Given the description of an element on the screen output the (x, y) to click on. 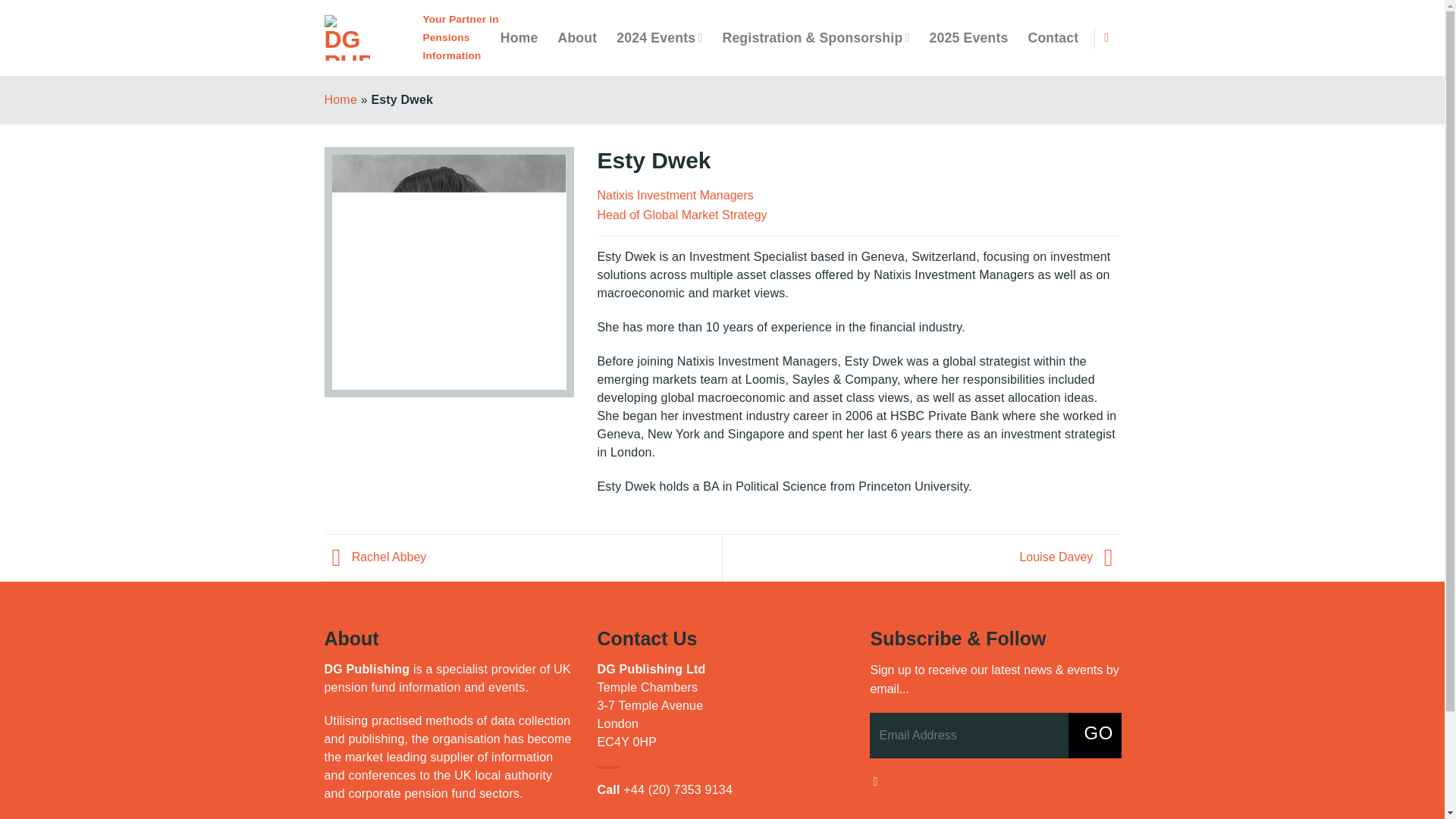
2024 Events (658, 37)
2025 Events (969, 37)
Contact (1052, 37)
Rachel Abbey (375, 556)
Louise Davey (1069, 556)
Home (340, 99)
Home (519, 37)
About (576, 37)
GO (1094, 735)
